Given the description of an element on the screen output the (x, y) to click on. 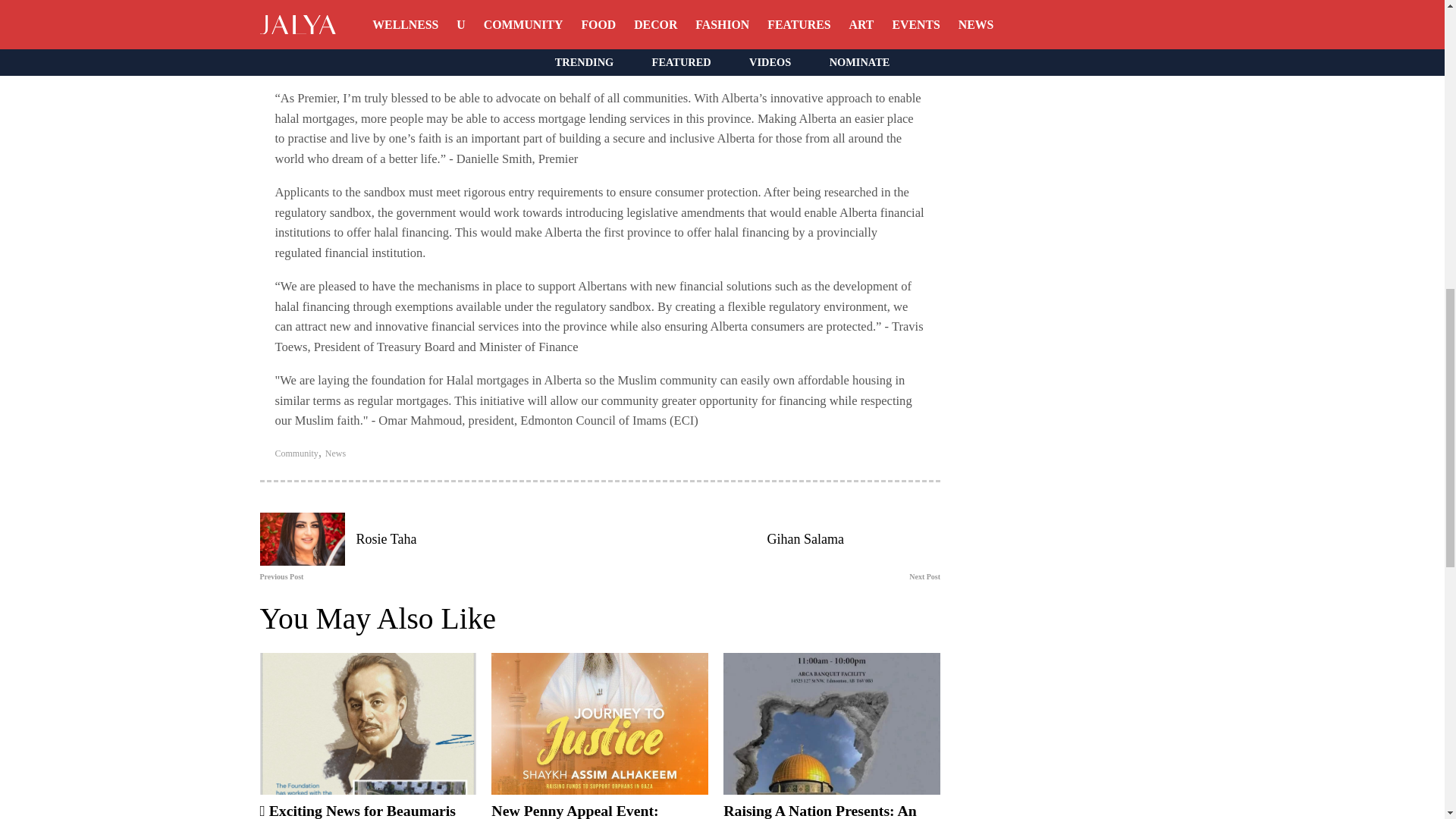
View all posts in News (335, 452)
Previous Post (425, 576)
View all posts in Community (296, 452)
Next Post (773, 576)
Advertisement (1070, 169)
Raising A Nation Presents: An Islamic Perspective (820, 810)
News (335, 452)
Community (296, 452)
